Given the description of an element on the screen output the (x, y) to click on. 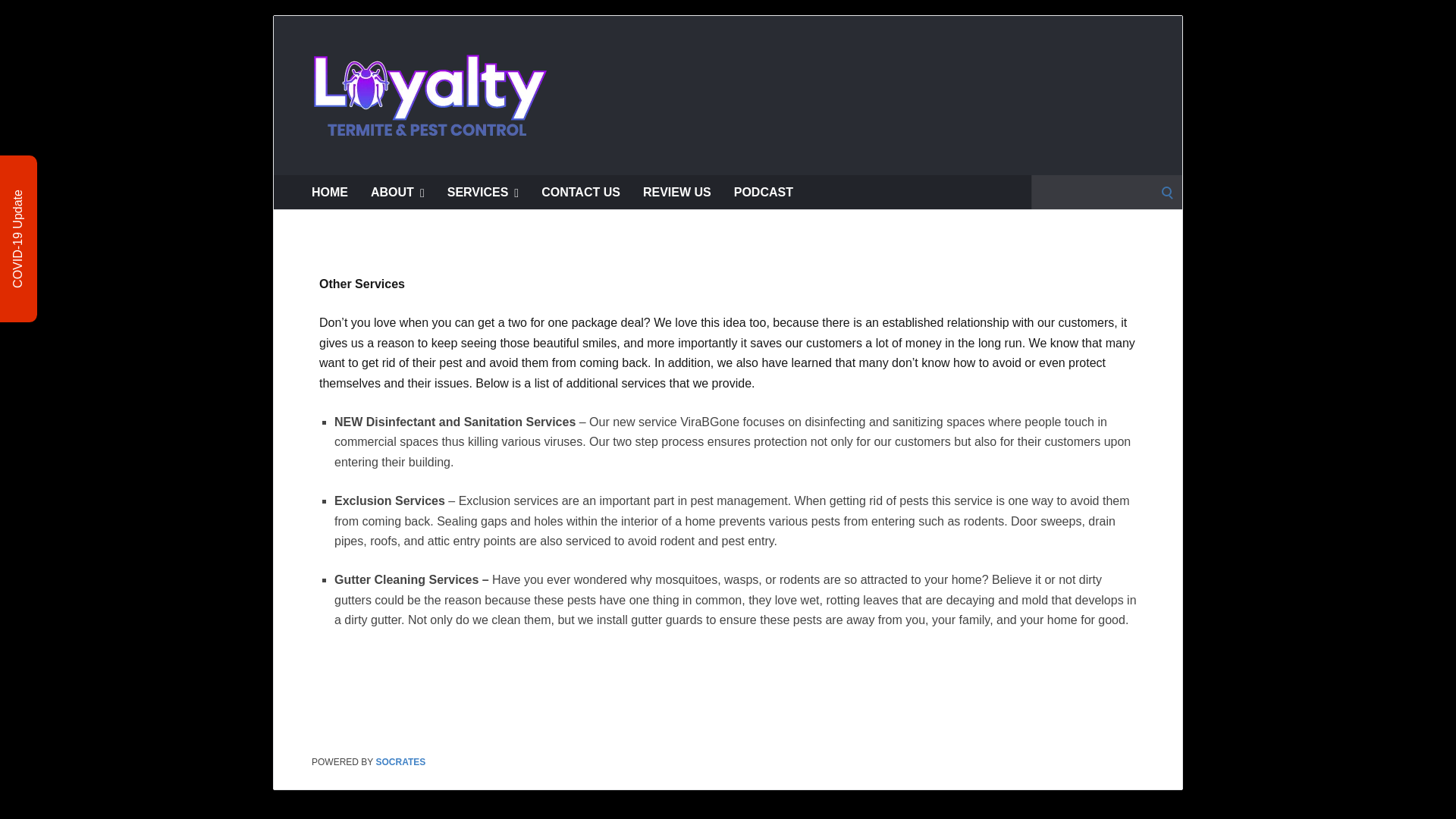
SOCRATES (400, 761)
ABOUT (398, 192)
REVIEW US (677, 192)
CONTACT US (580, 192)
PODCAST (763, 192)
COVID-19 Update (59, 196)
Search (16, 17)
HOME (329, 192)
SERVICES (482, 192)
